Given the description of an element on the screen output the (x, y) to click on. 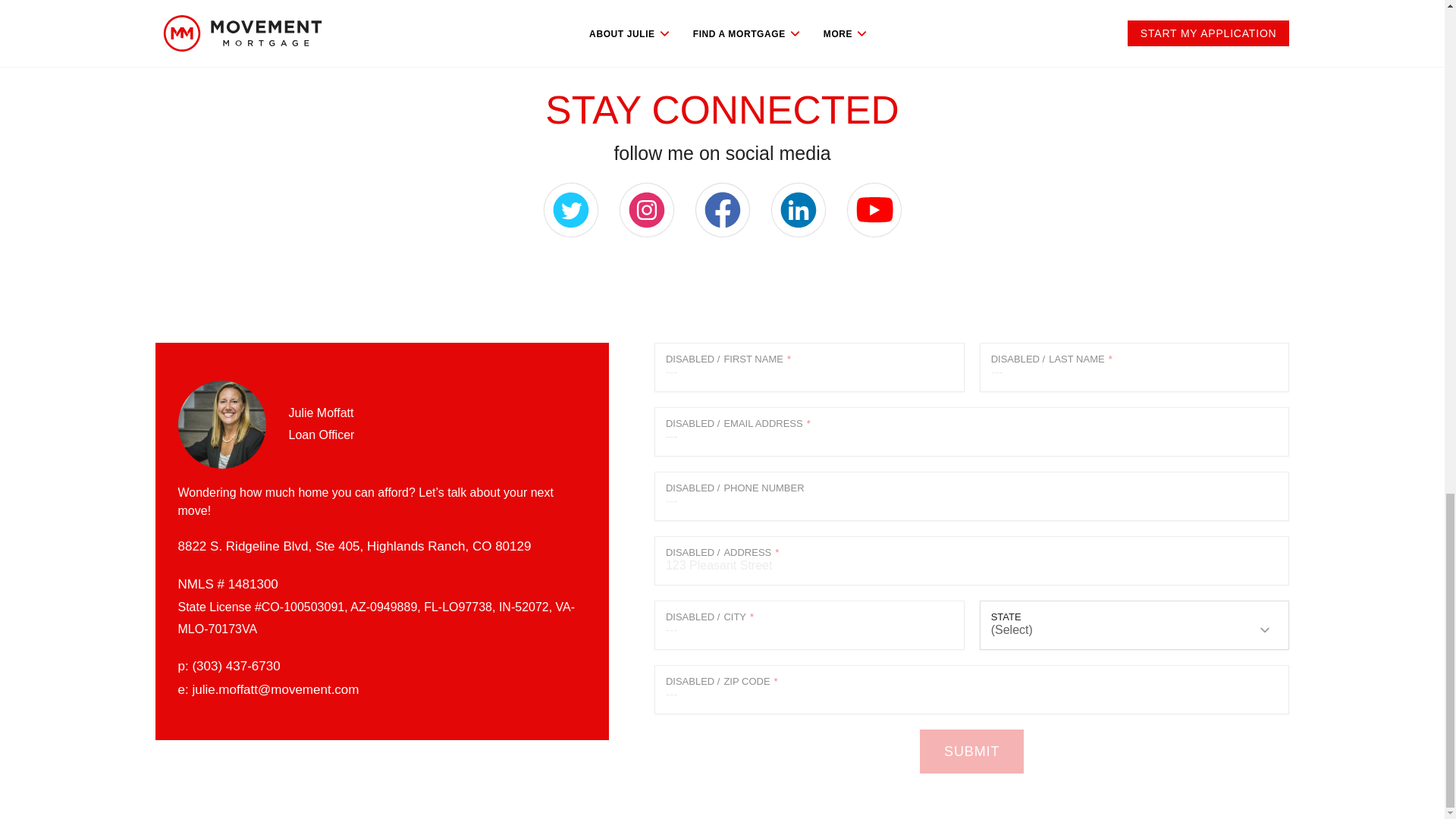
Submit (971, 751)
